Given the description of an element on the screen output the (x, y) to click on. 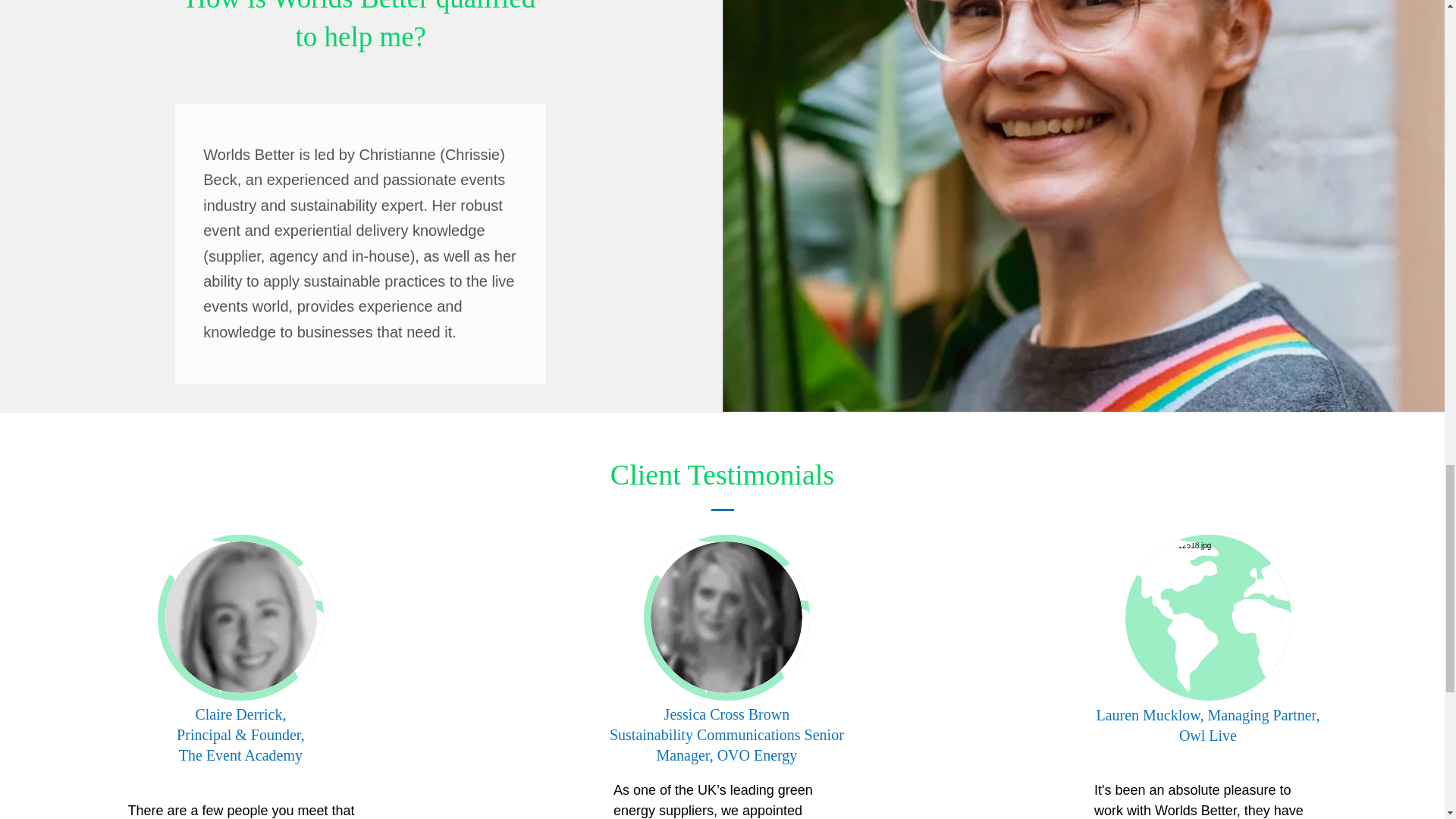
GettyImages-145680711.jpg (726, 616)
GettyImages-535587703.jpg (241, 616)
GettyImages-124893619.jpg (1208, 616)
